Given the description of an element on the screen output the (x, y) to click on. 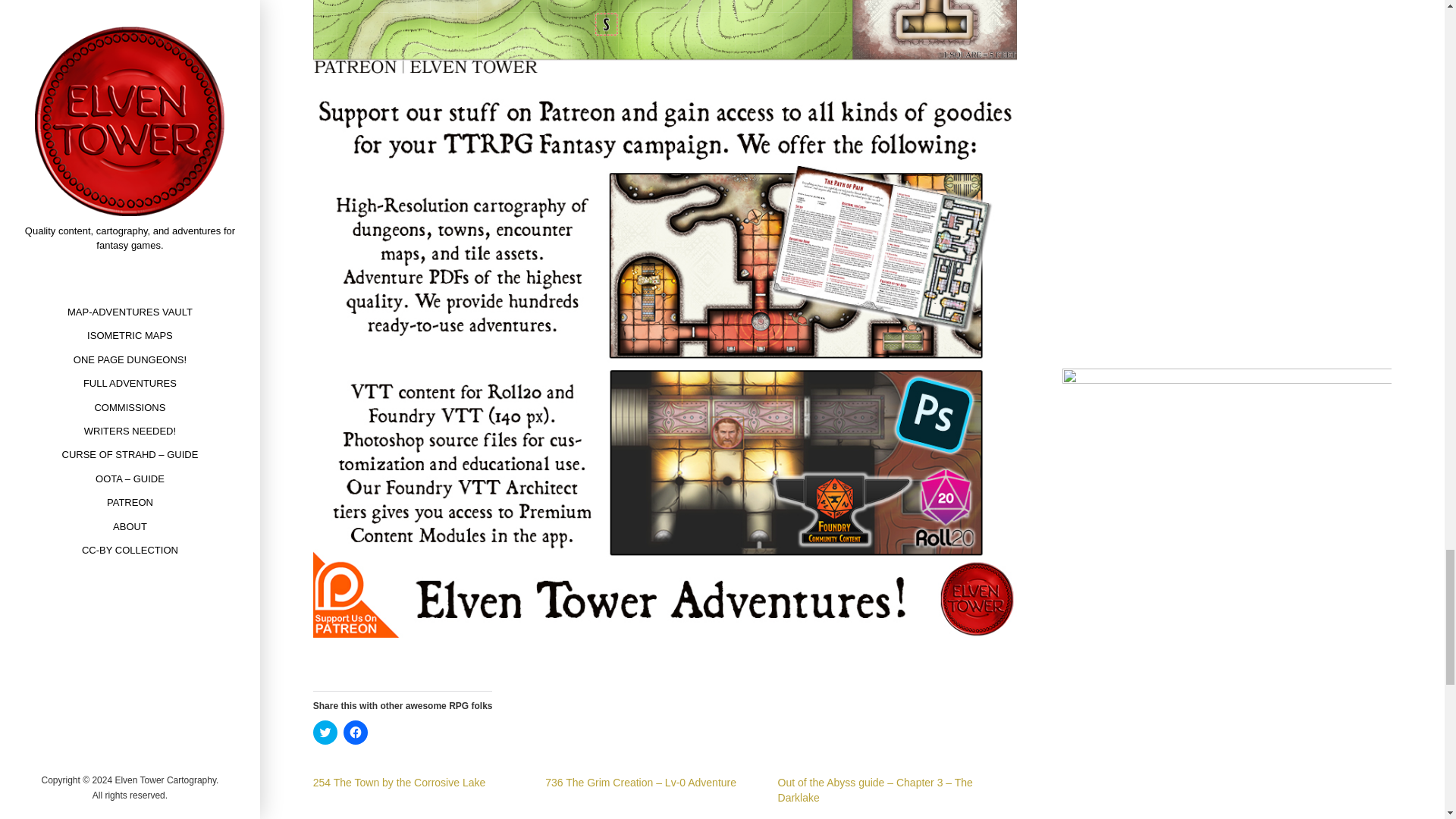
254 The Town by the Corrosive Lake (399, 782)
Click to share on Twitter (325, 732)
254 The Town by the Corrosive Lake (399, 782)
Click to share on Facebook (355, 732)
